Given the description of an element on the screen output the (x, y) to click on. 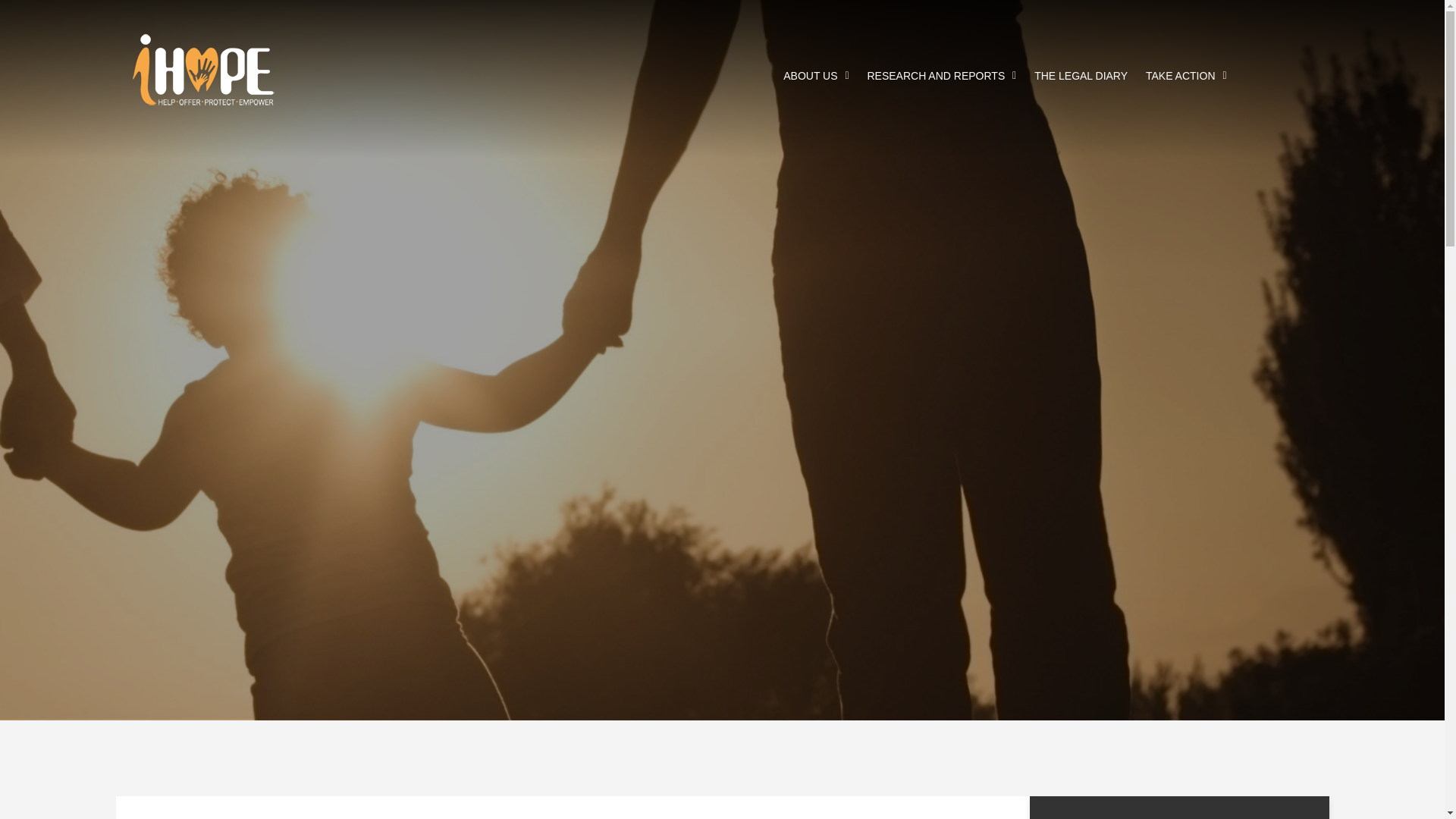
THE LEGAL DIARY (1079, 75)
ABOUT US (815, 75)
RESEARCH AND REPORTS (941, 75)
TAKE ACTION (1186, 75)
